Given the description of an element on the screen output the (x, y) to click on. 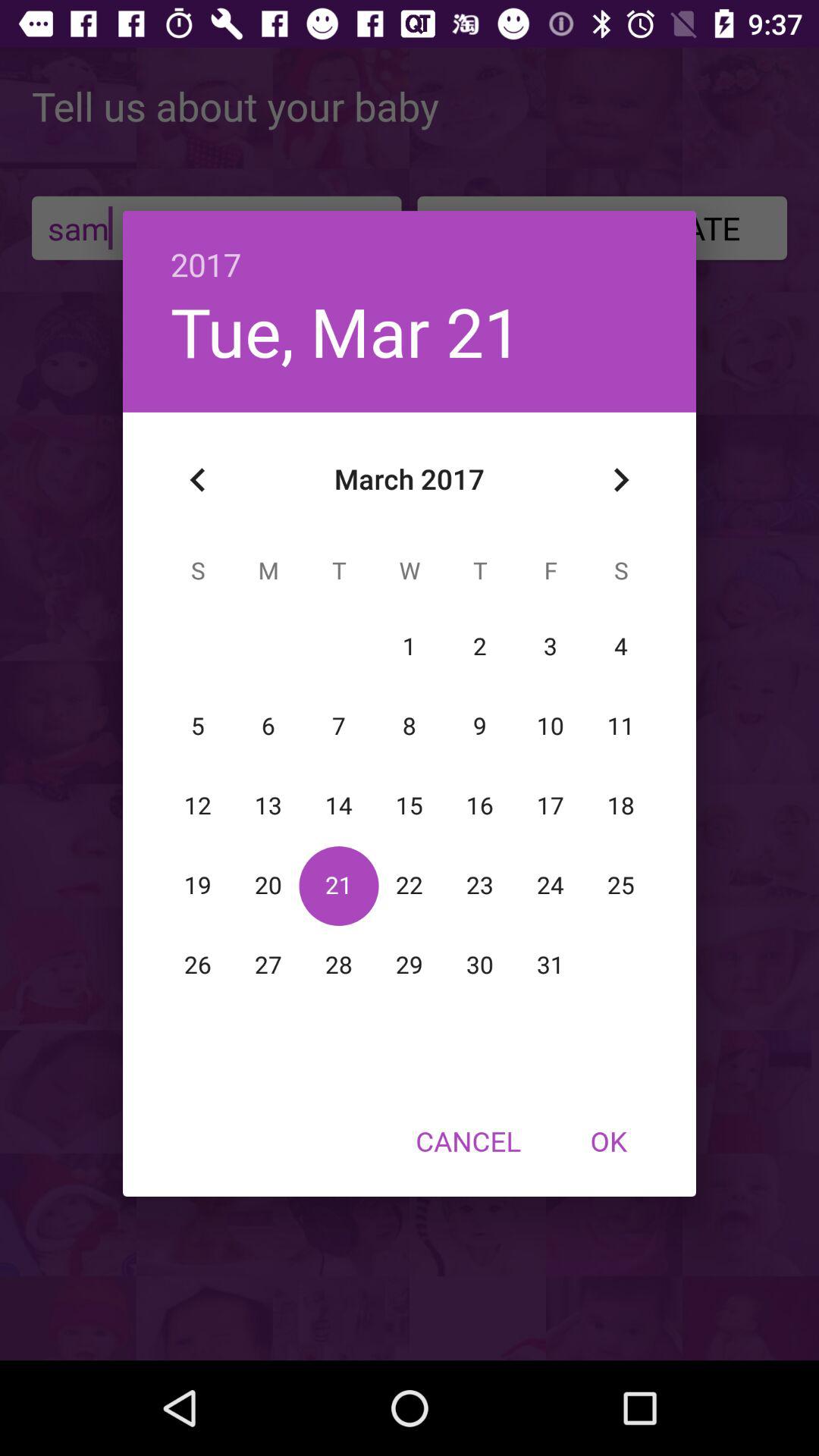
select the tue, mar 21 icon (346, 331)
